Given the description of an element on the screen output the (x, y) to click on. 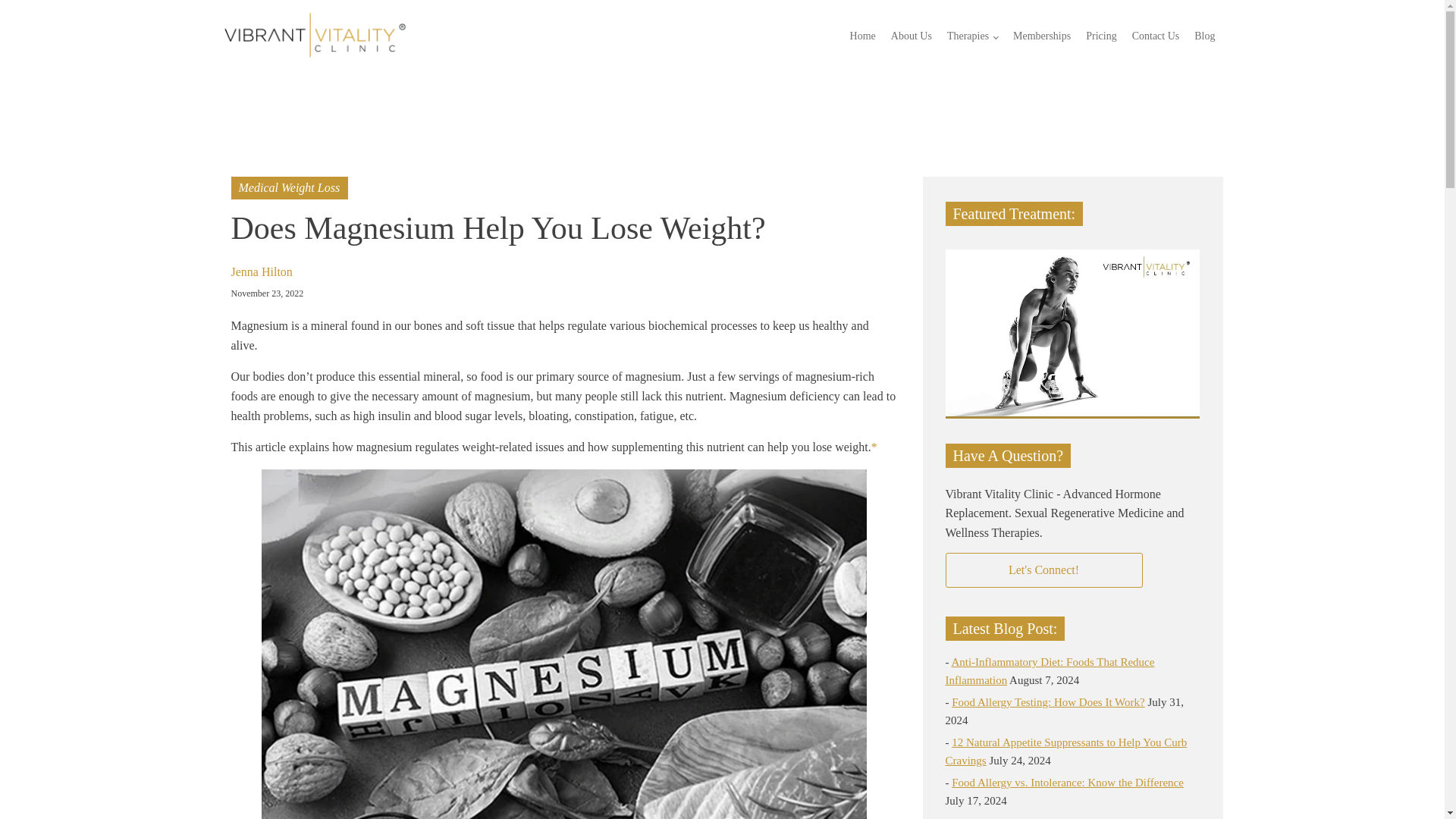
Memberships (1042, 36)
Anti-Inflammatory Diet: Foods That Reduce Inflammation (1049, 671)
Food Allergy Testing: How Does It Work? (1048, 702)
Food Allergy vs. Intolerance: Know the Difference (1067, 782)
Let's Connect! (1042, 570)
Contact Us (1156, 36)
Medical Weight Loss (288, 187)
Pricing (1101, 36)
Therapies (972, 36)
12 Natural Appetite Suppressants to Help You Curb Cravings (1065, 751)
